Given the description of an element on the screen output the (x, y) to click on. 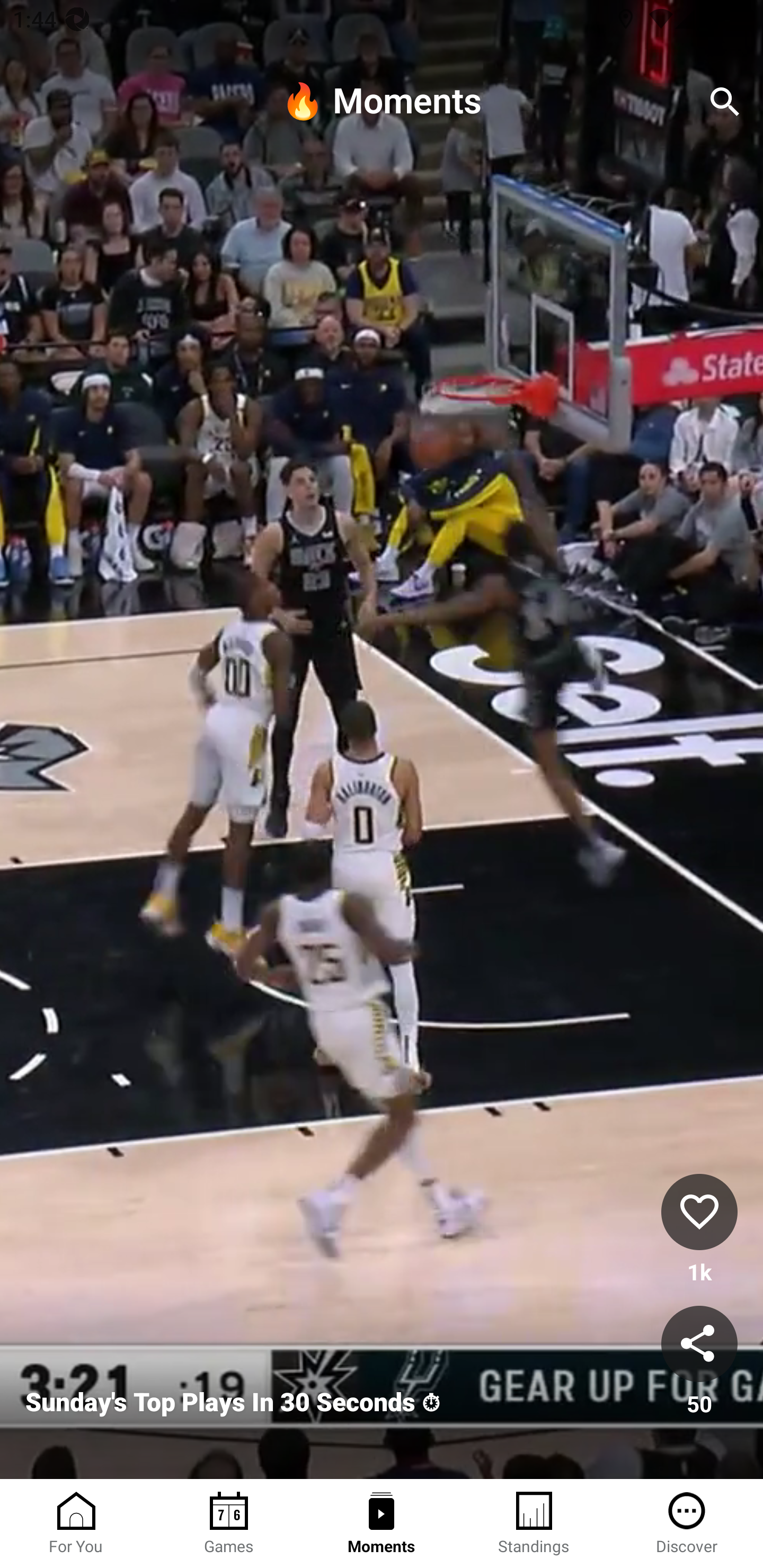
search (724, 101)
like 1k 1039 Likes (699, 1230)
share 50 50 Shares (699, 1362)
For You (76, 1523)
Games (228, 1523)
Standings (533, 1523)
Discover (686, 1523)
